Given the description of an element on the screen output the (x, y) to click on. 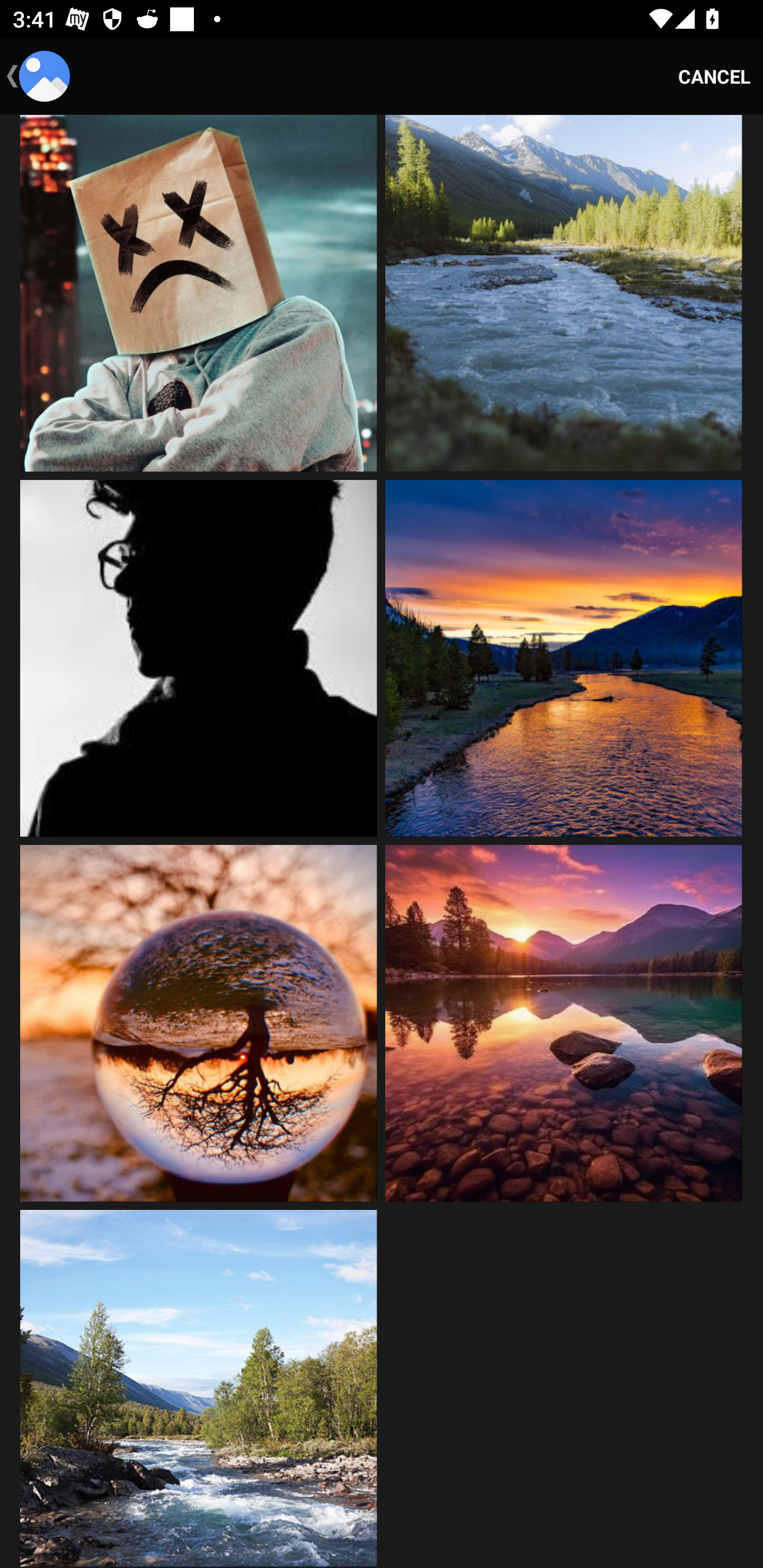
Select photo, Navigate up (38, 75)
CANCEL (714, 75)
